Given the description of an element on the screen output the (x, y) to click on. 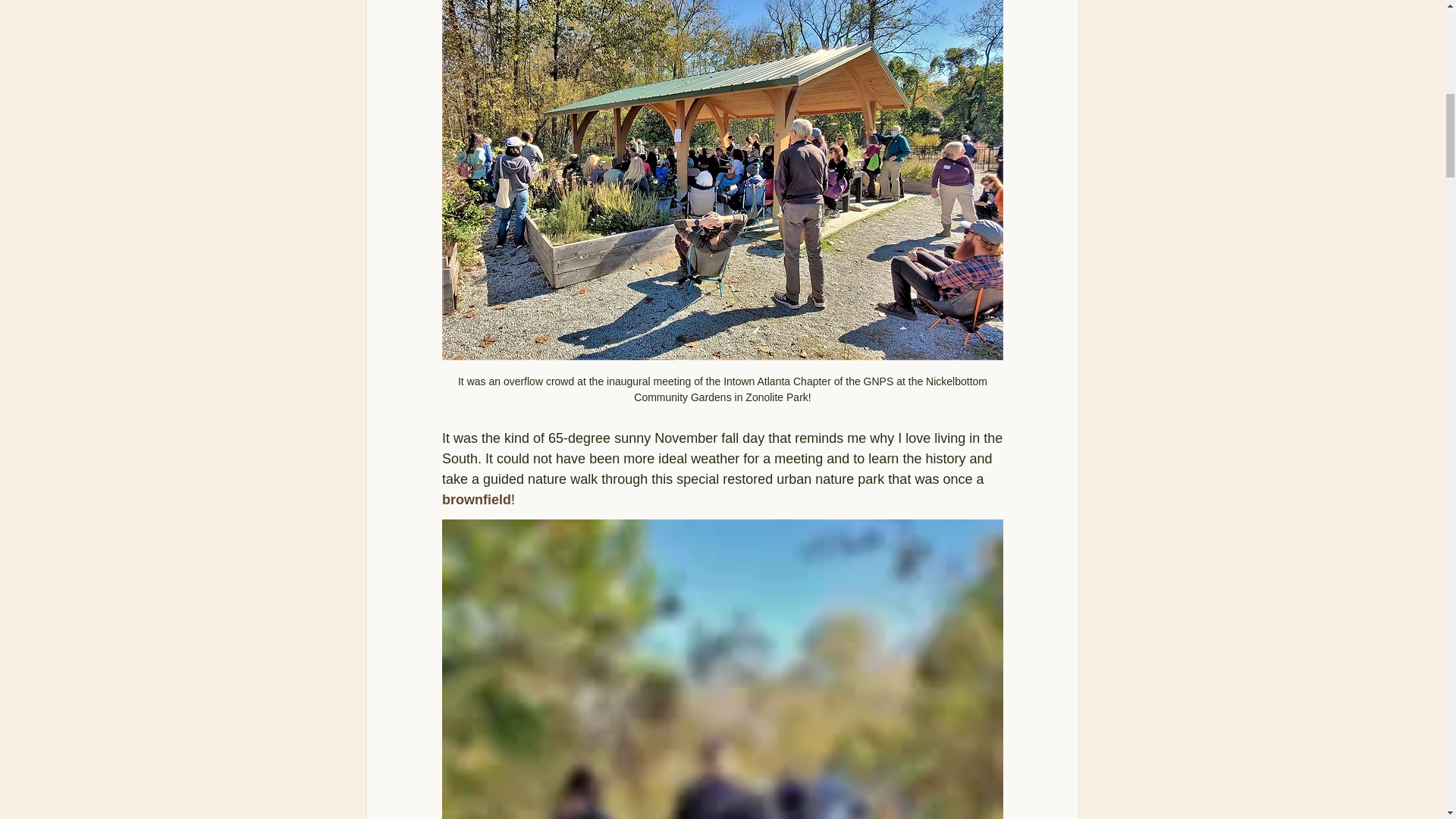
brownfield (476, 500)
